Given the description of an element on the screen output the (x, y) to click on. 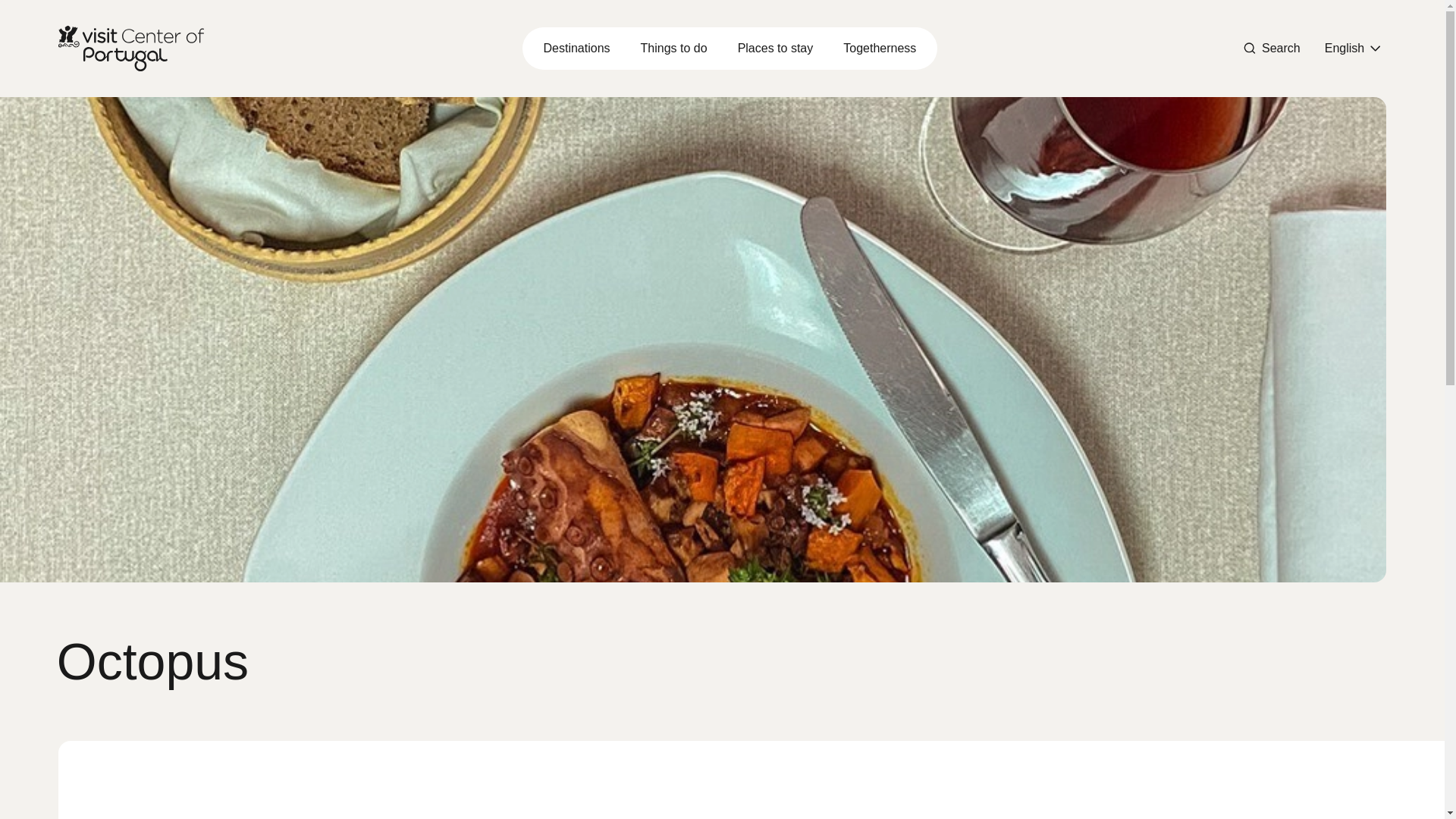
Places to stay (775, 48)
Destinations (577, 48)
Search (1272, 48)
English (1352, 48)
Togetherness (879, 48)
Things to do (674, 48)
